Given the description of an element on the screen output the (x, y) to click on. 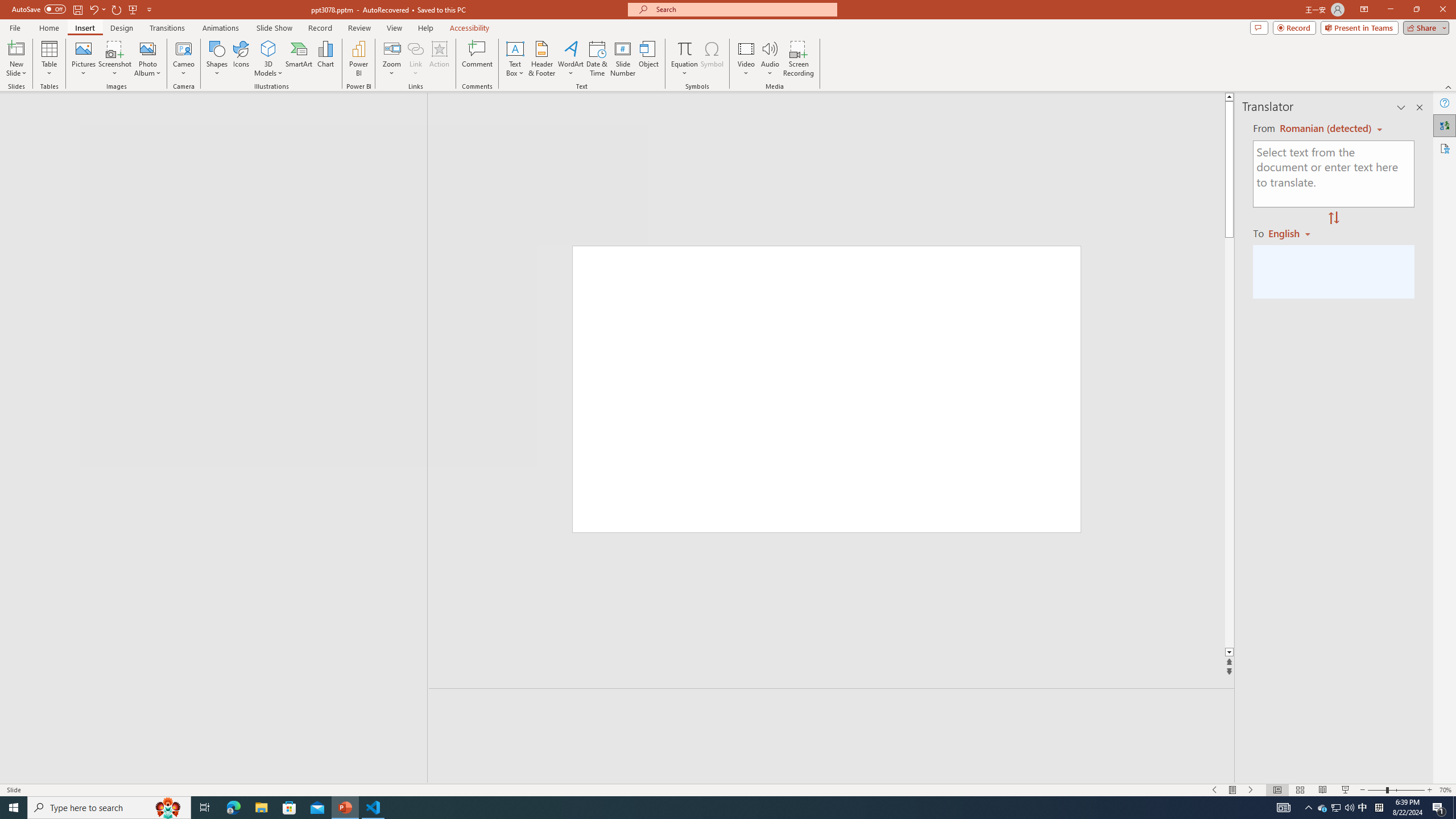
Date & Time... (596, 58)
Romanian (1293, 232)
